Given the description of an element on the screen output the (x, y) to click on. 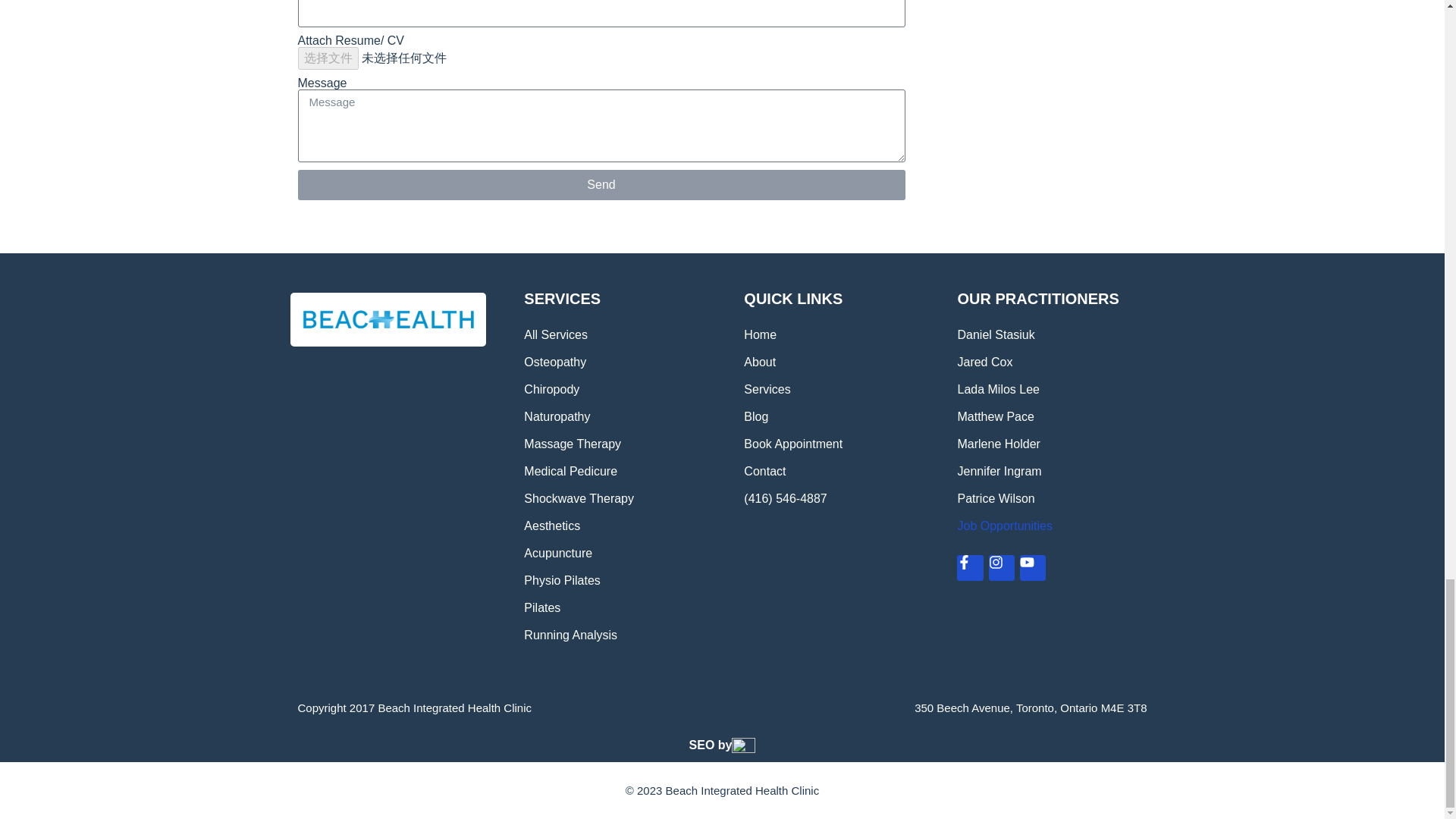
Send (600, 184)
